Given the description of an element on the screen output the (x, y) to click on. 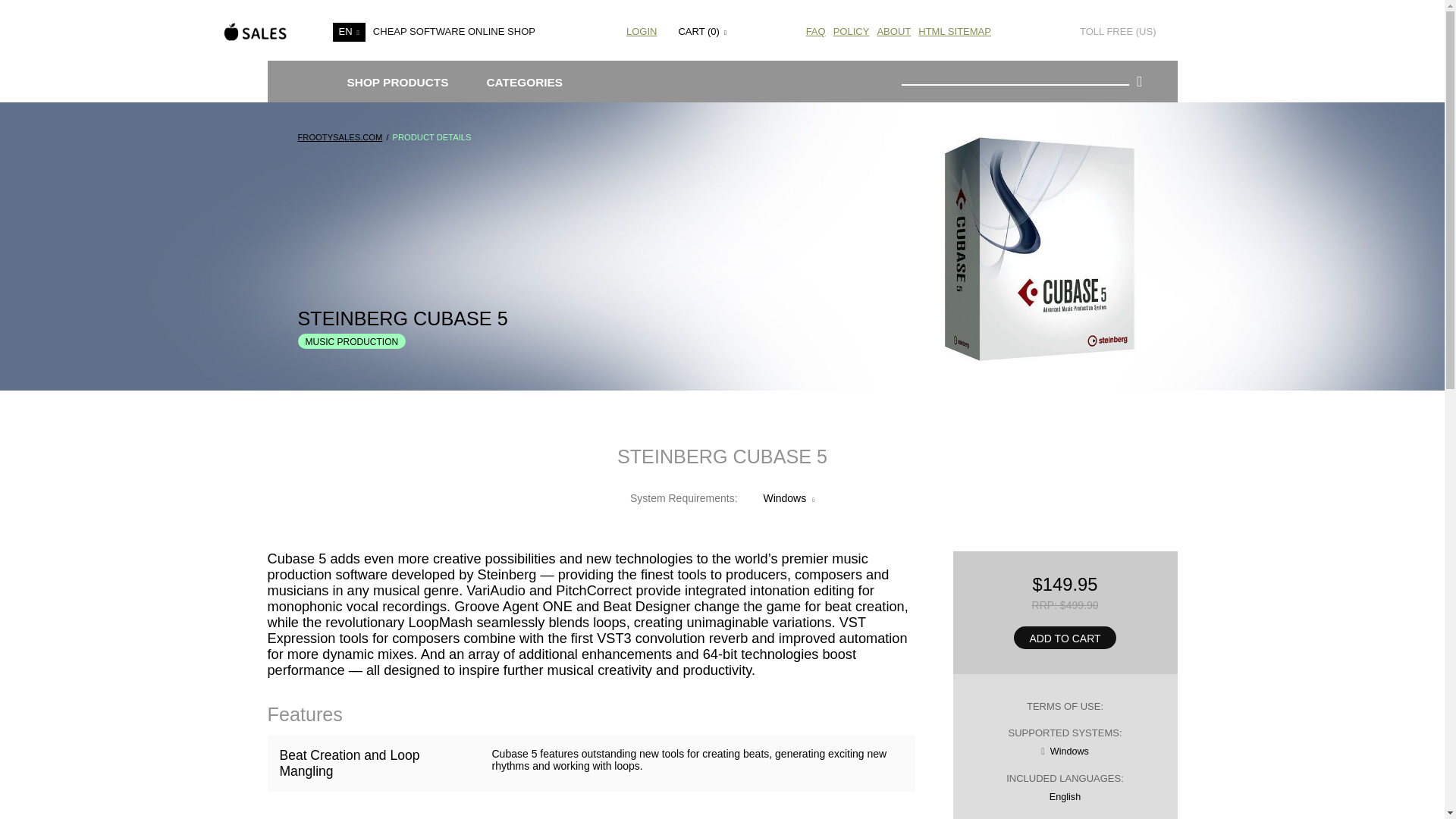
ABOUT (893, 30)
LOGIN (642, 30)
POLICY (850, 30)
FAQ (815, 30)
HTML SITEMAP (954, 30)
